Given the description of an element on the screen output the (x, y) to click on. 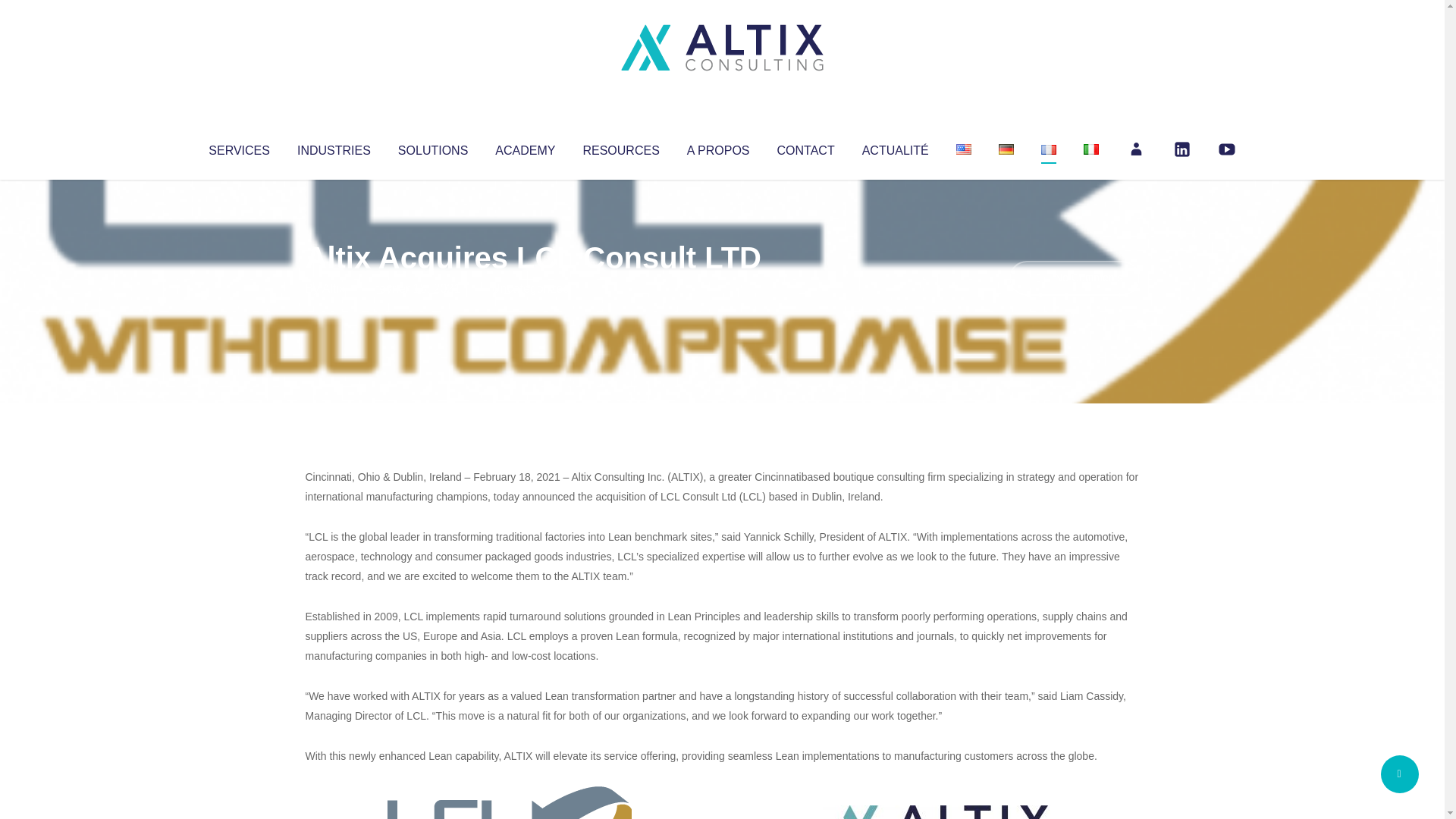
A PROPOS (718, 146)
No Comments (1073, 278)
SERVICES (238, 146)
Articles par Altix (333, 287)
RESOURCES (620, 146)
ACADEMY (524, 146)
INDUSTRIES (334, 146)
Altix (333, 287)
Uncategorized (530, 287)
SOLUTIONS (432, 146)
